Given the description of an element on the screen output the (x, y) to click on. 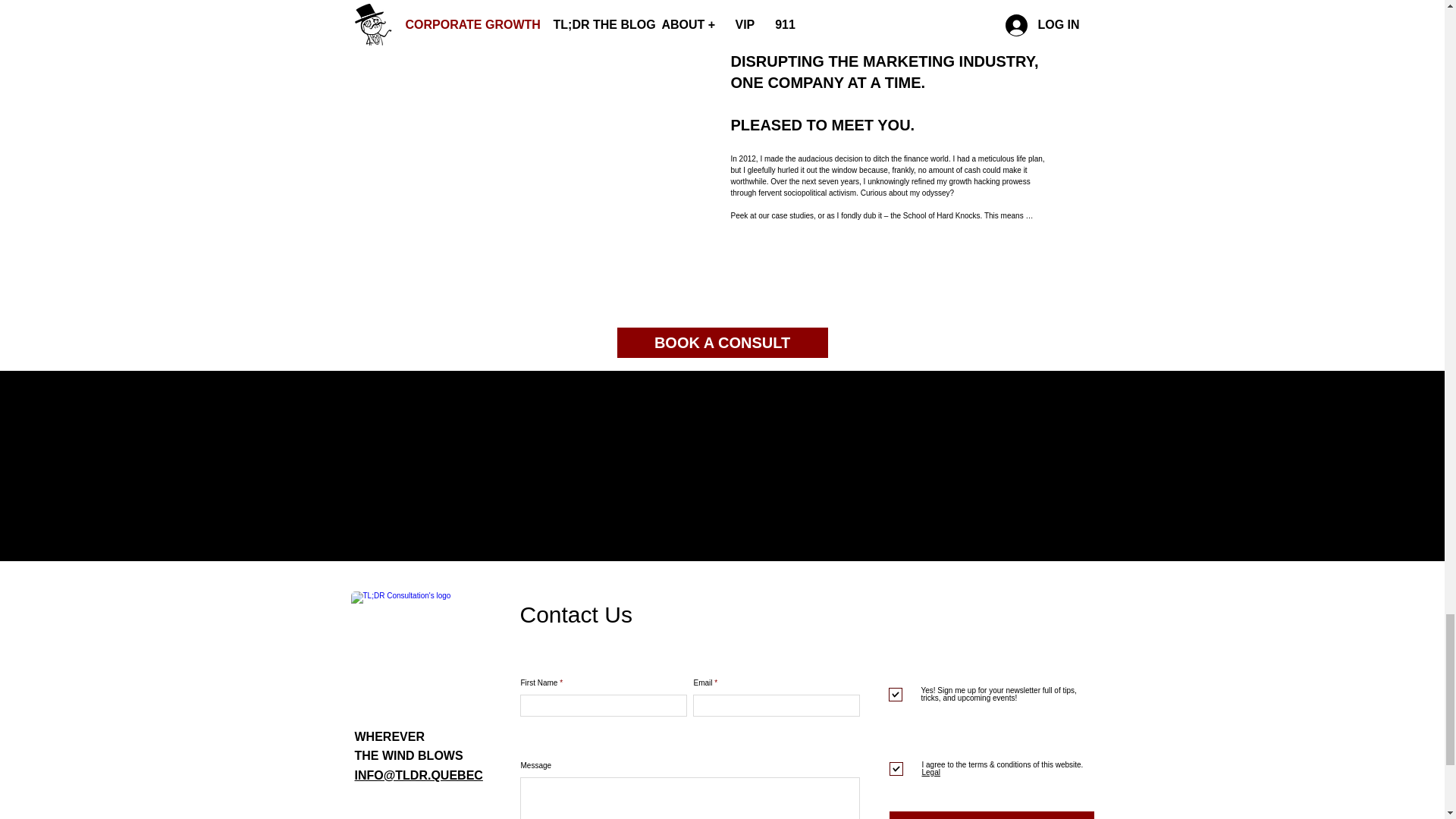
BOOK A CONSULT (722, 342)
